Given the description of an element on the screen output the (x, y) to click on. 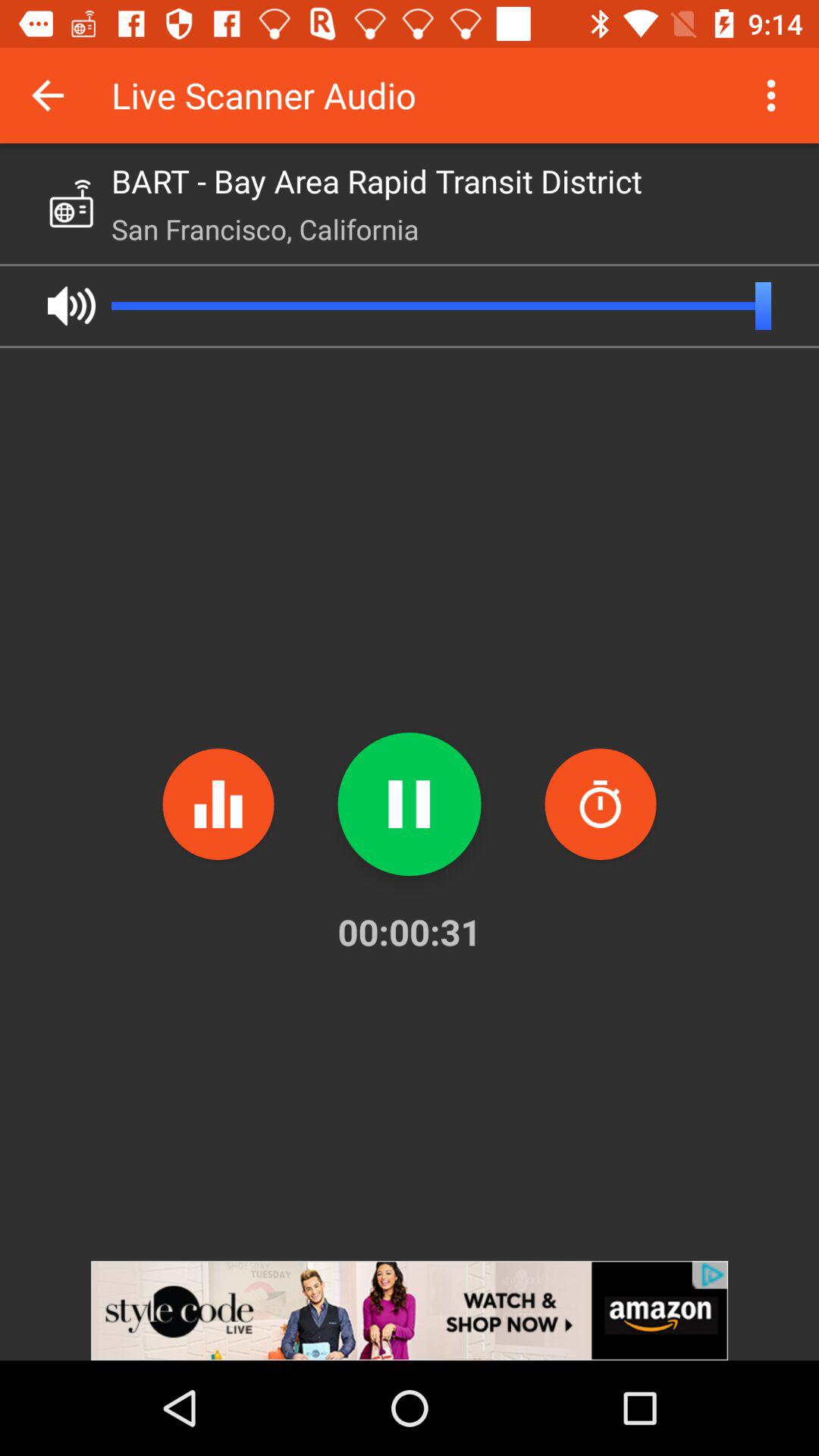
back (47, 95)
